Given the description of an element on the screen output the (x, y) to click on. 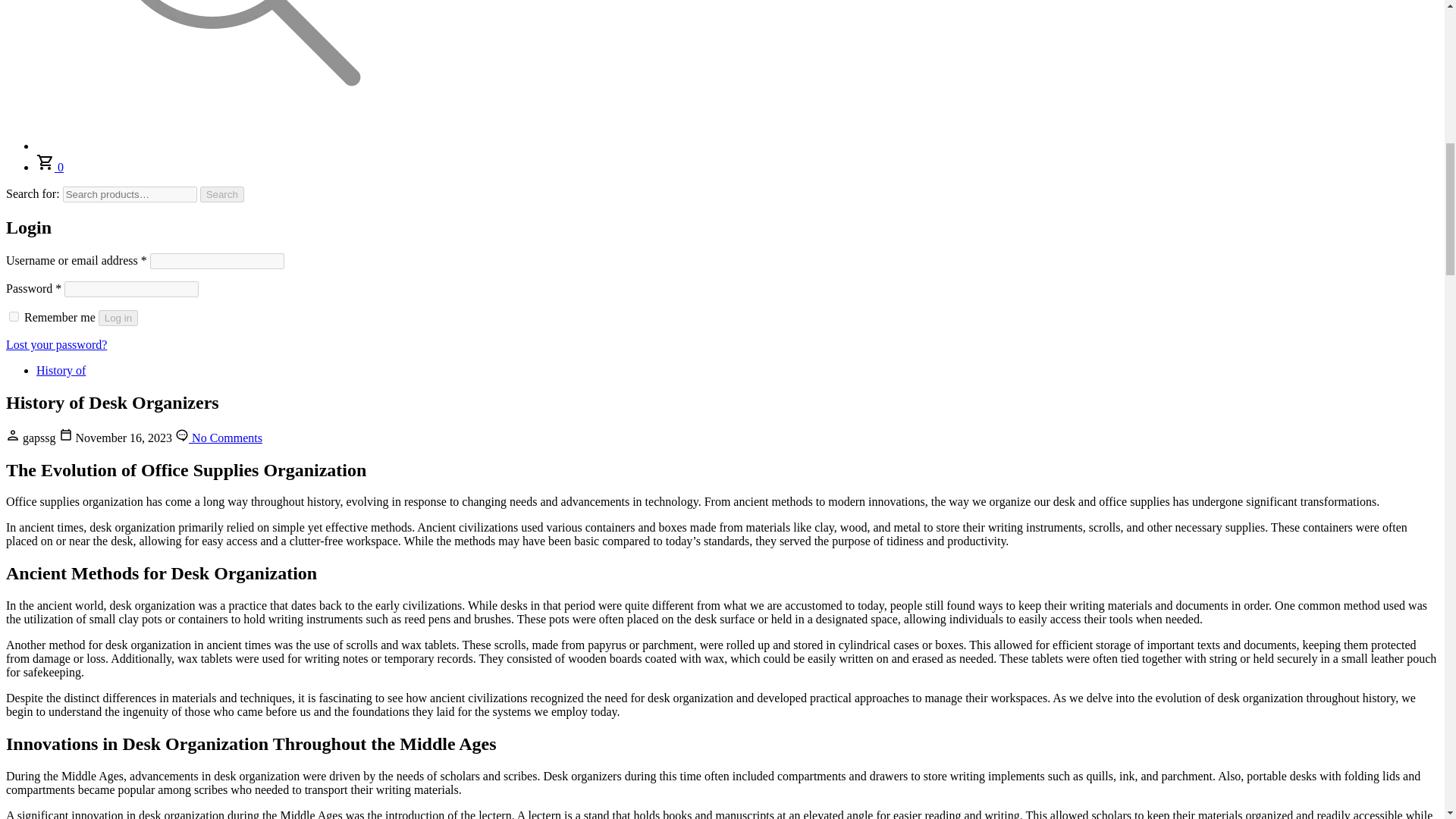
No Comments (218, 437)
History of (60, 369)
Search (222, 194)
0 (50, 166)
Log in (118, 317)
Lost your password? (55, 344)
forever (13, 316)
